Given the description of an element on the screen output the (x, y) to click on. 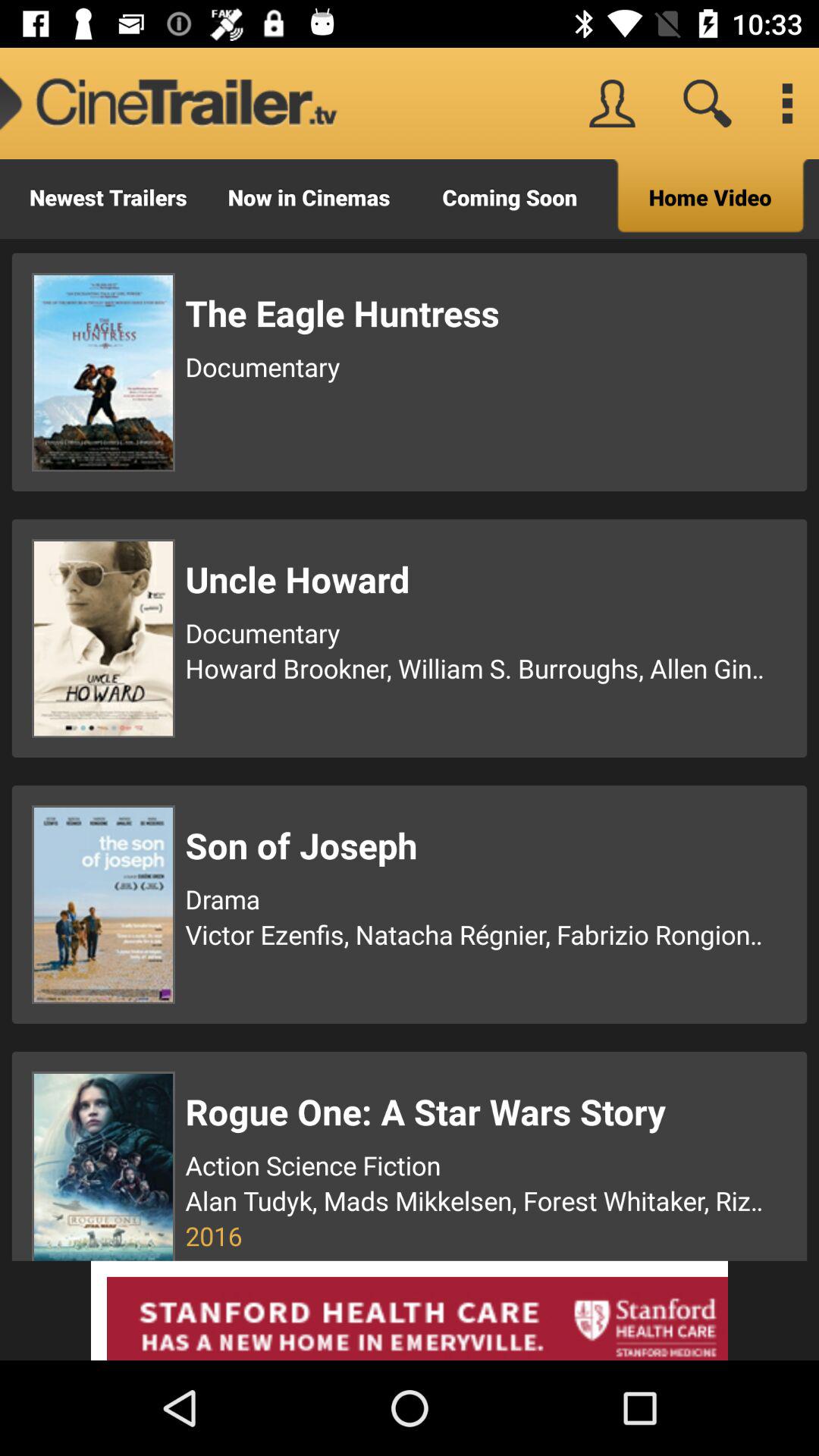
click the blinking box if you would like to learn more about stanford health care (409, 1310)
